Given the description of an element on the screen output the (x, y) to click on. 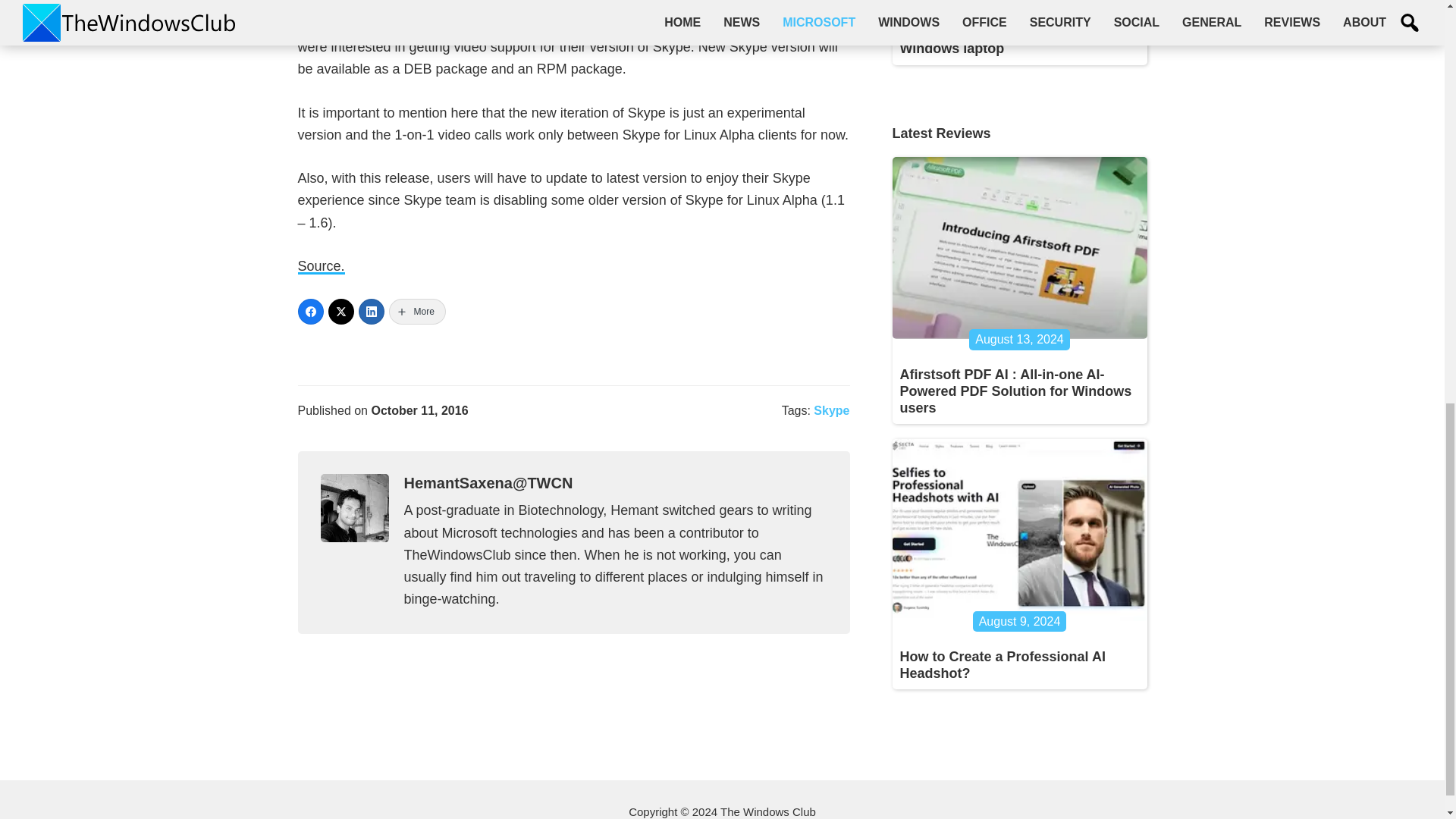
Source. (320, 266)
WiFi keeps asking for password on Windows laptop (1012, 40)
Skype (830, 410)
More (416, 311)
How to Create a Professional AI Headshot? (1002, 664)
